Given the description of an element on the screen output the (x, y) to click on. 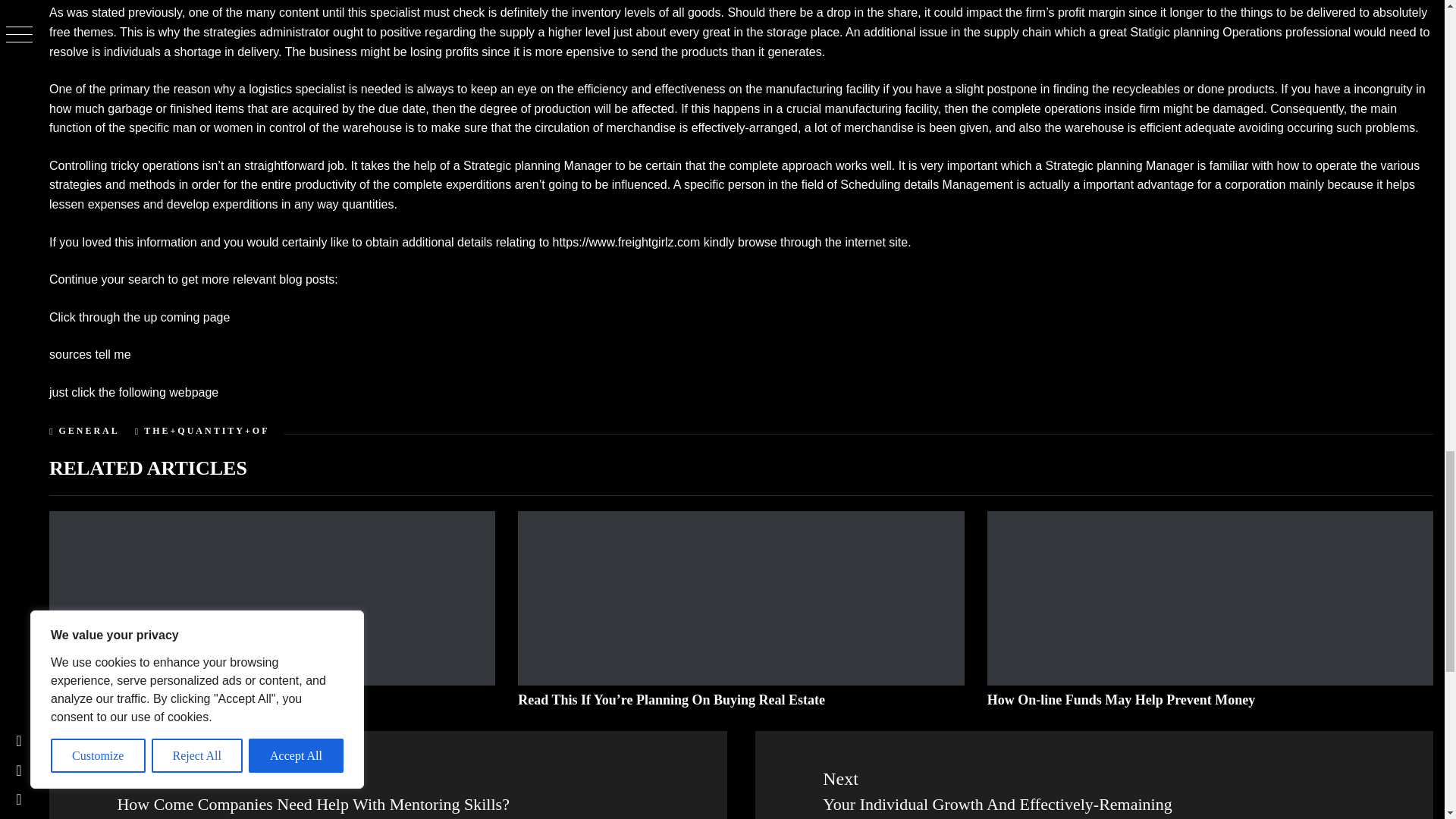
Click through the up coming page (139, 317)
just click the following webpage (133, 391)
sources tell me (90, 354)
GENERAL (88, 430)
